Given the description of an element on the screen output the (x, y) to click on. 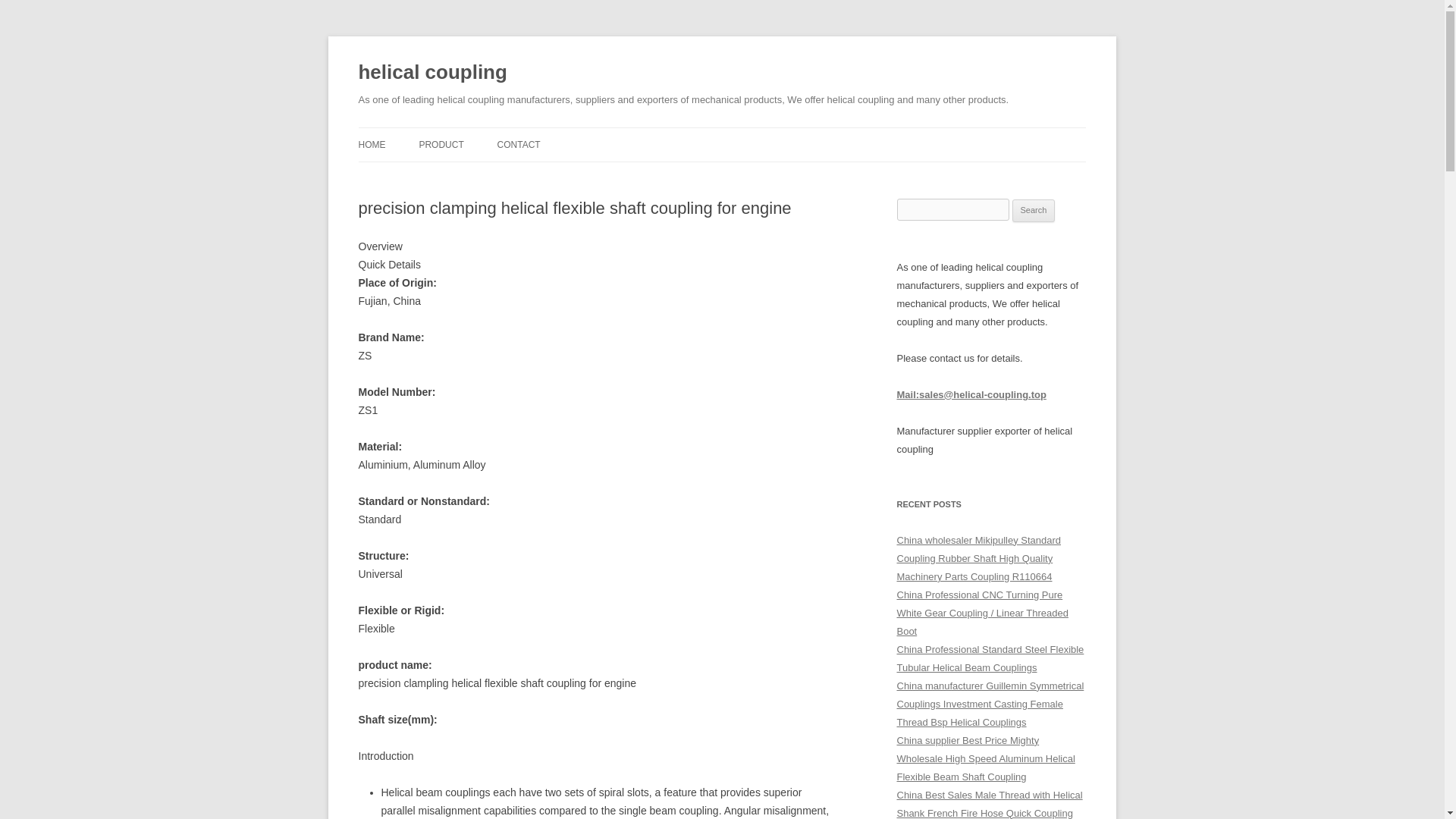
CONTACT (518, 144)
helical coupling (432, 72)
helical coupling (432, 72)
Search (1033, 210)
PRODUCT (441, 144)
Search (1033, 210)
